Given the description of an element on the screen output the (x, y) to click on. 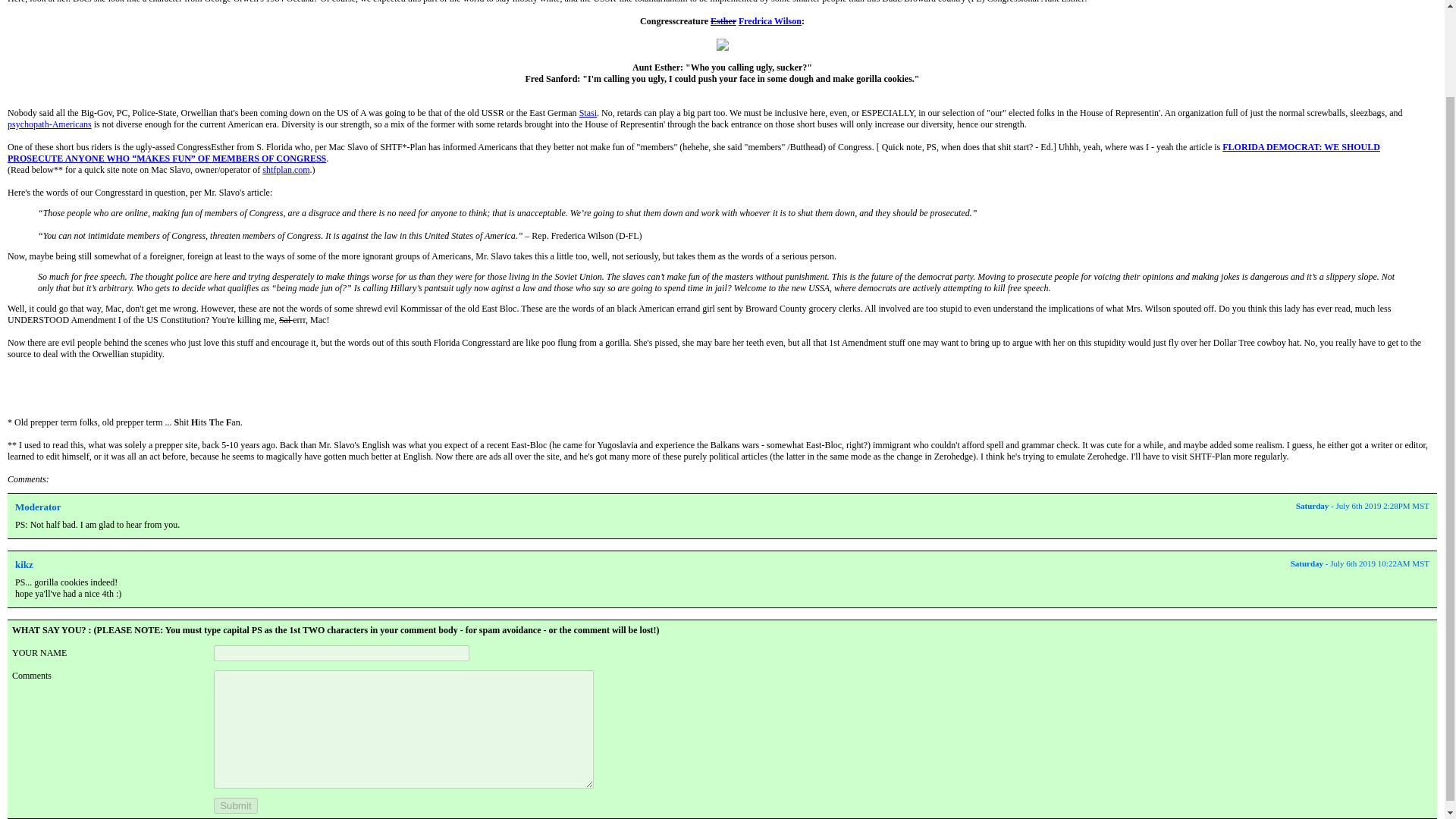
Submit (235, 805)
Submit (235, 805)
Esther (723, 20)
psychopath-Americans (49, 123)
Stasi (587, 112)
Fredrica Wilson (770, 20)
shtfplan.com (285, 169)
